Given the description of an element on the screen output the (x, y) to click on. 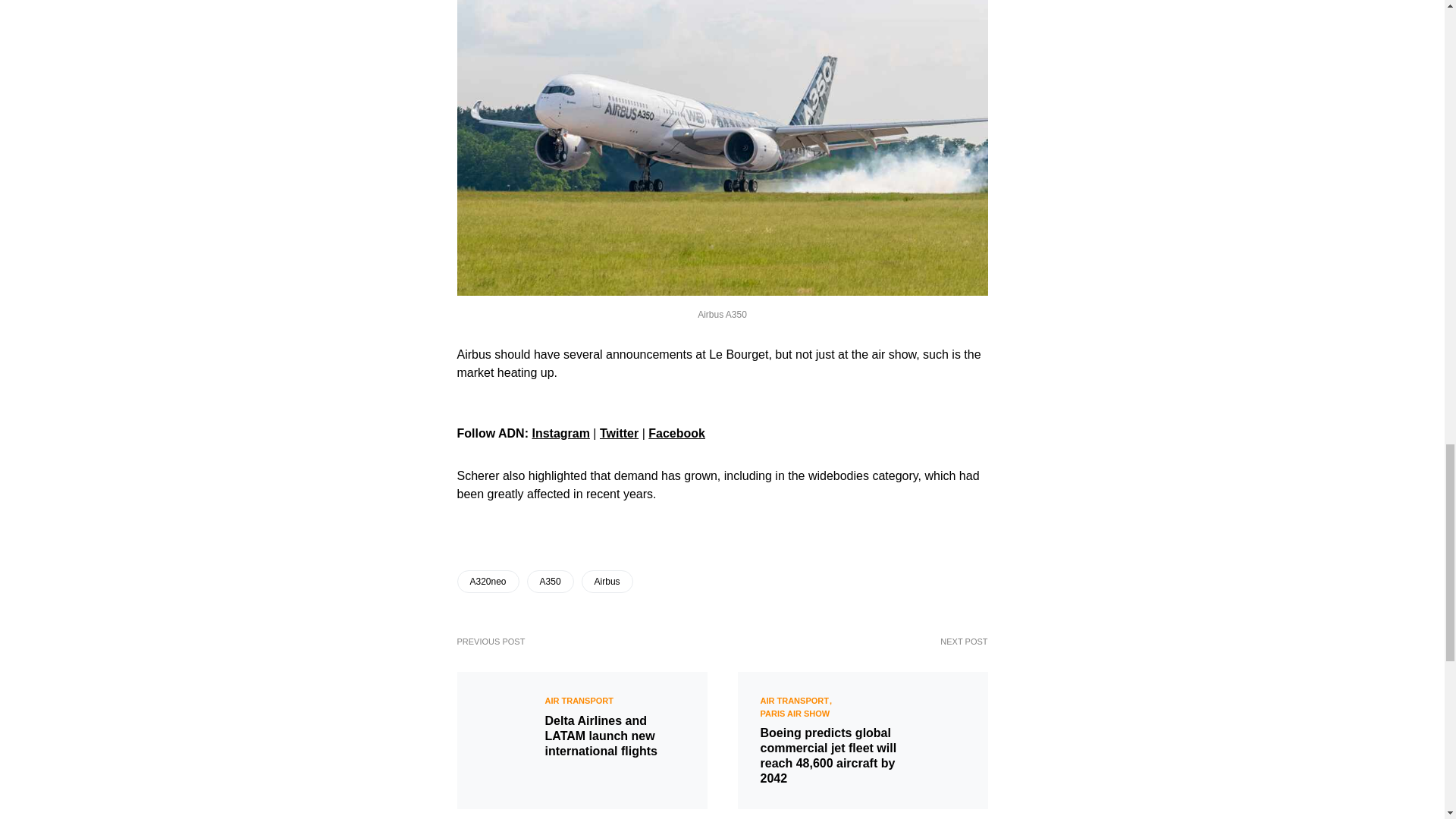
Facebook (675, 432)
A320neo (487, 581)
Delta Airlines and LATAM launch new international flights (614, 736)
Airbus (606, 581)
Instagram (560, 432)
AIR TRANSPORT (578, 700)
A350 (550, 581)
Twitter (619, 432)
